Given the description of an element on the screen output the (x, y) to click on. 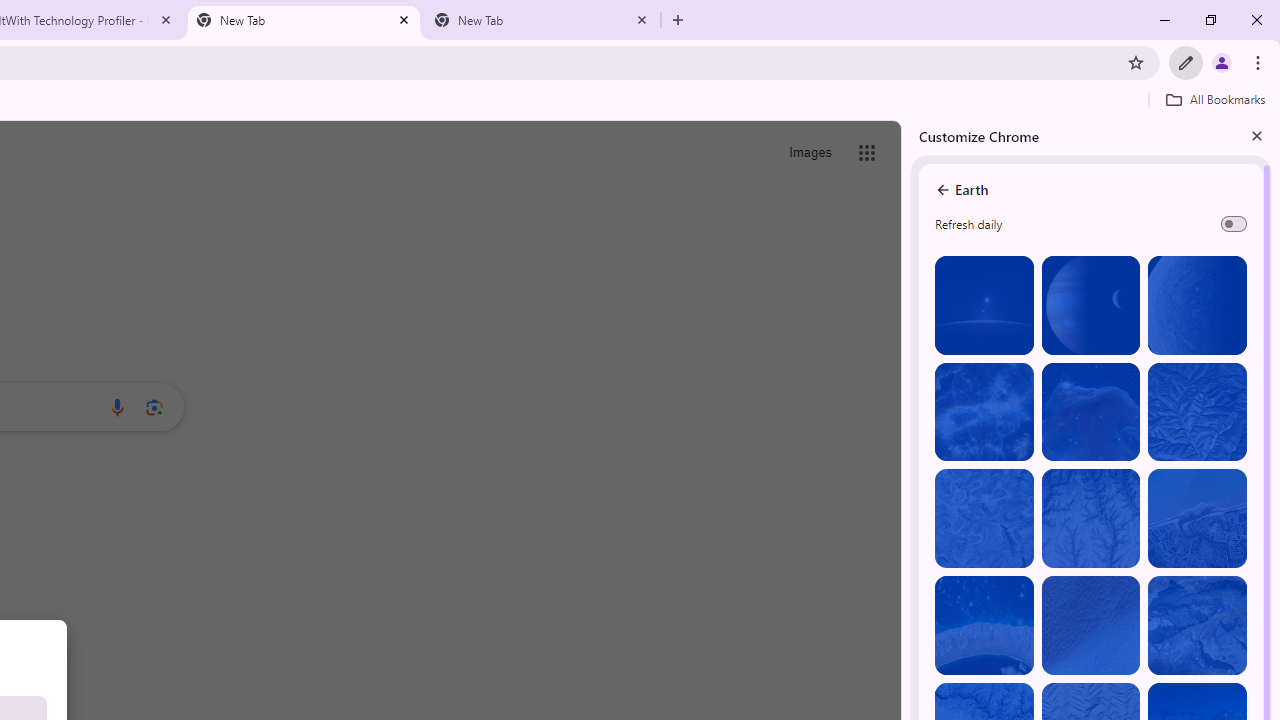
New Tab (541, 20)
Photo by NASA Image Library (1090, 412)
Kelan, Shanxi, China (1197, 412)
Trarza, Mauritania (1090, 625)
Nanggroe Aceh Darussalam, Indonesia (1197, 518)
Refresh daily (1233, 223)
